Given the description of an element on the screen output the (x, y) to click on. 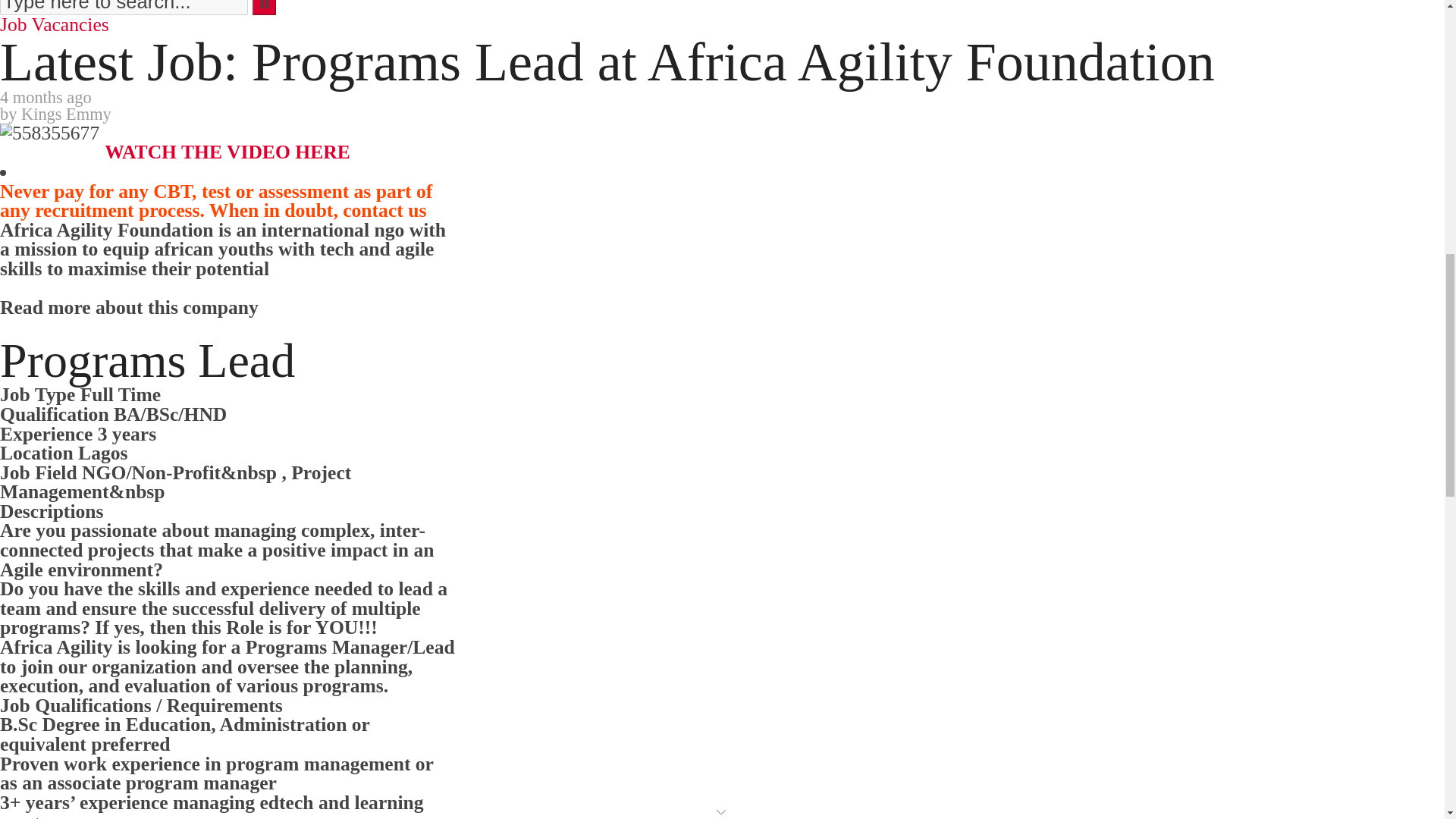
Type here to search... (123, 7)
Latest Job: Programs Lead at Africa Agility Foundation (49, 133)
Type here to search... (123, 7)
